Given the description of an element on the screen output the (x, y) to click on. 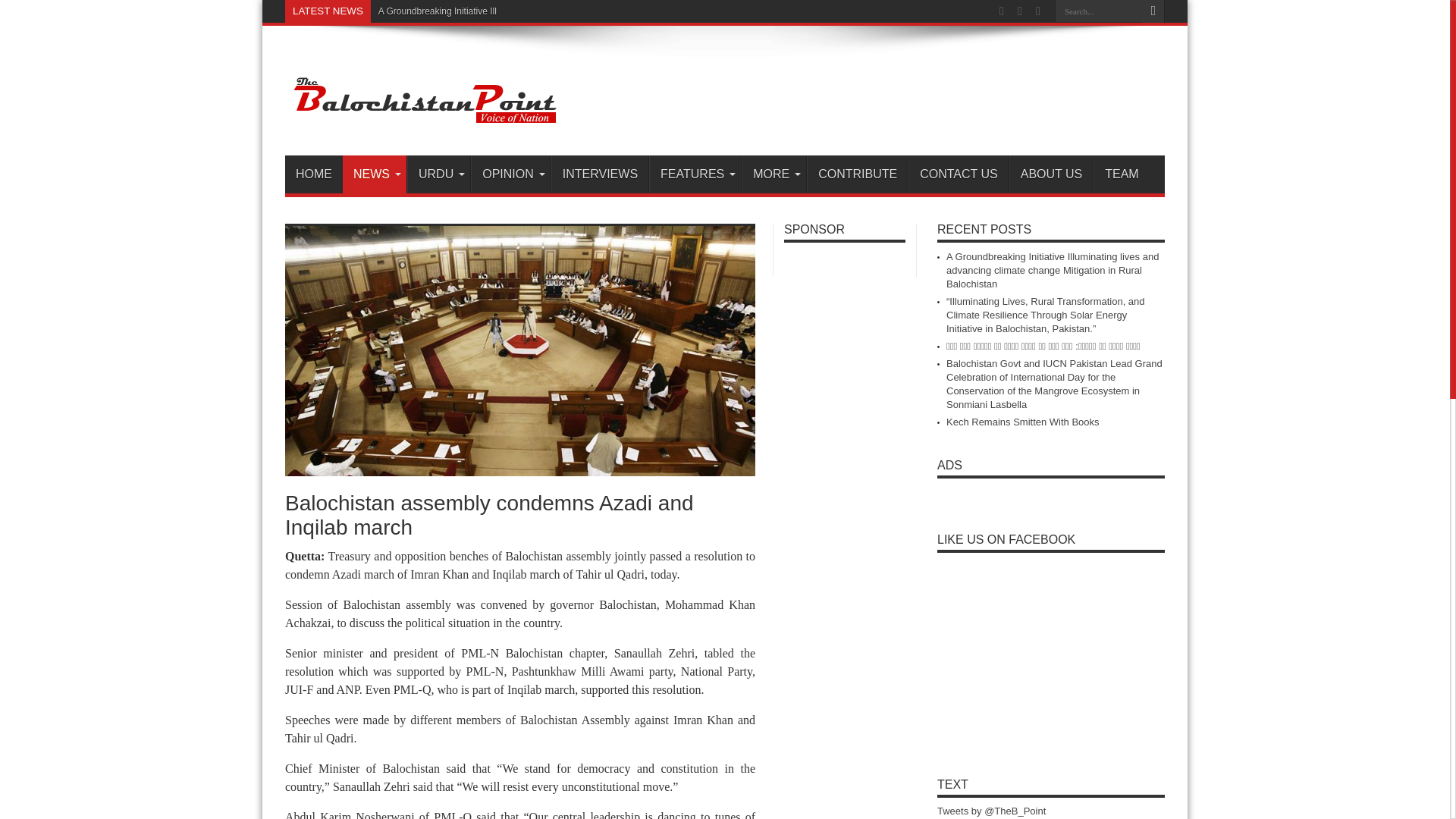
NEWS (374, 174)
FEATURES (695, 174)
CONTRIBUTE (856, 174)
Balochistan Point (422, 117)
TEAM (1120, 174)
MORE (773, 174)
A Groundbreaking Initiative Ill (437, 11)
HOME (313, 174)
Search (1152, 11)
INTERVIEWS (599, 174)
CONTACT US (958, 174)
ABOUT US (1051, 174)
Search... (1097, 11)
URDU (438, 174)
